Given the description of an element on the screen output the (x, y) to click on. 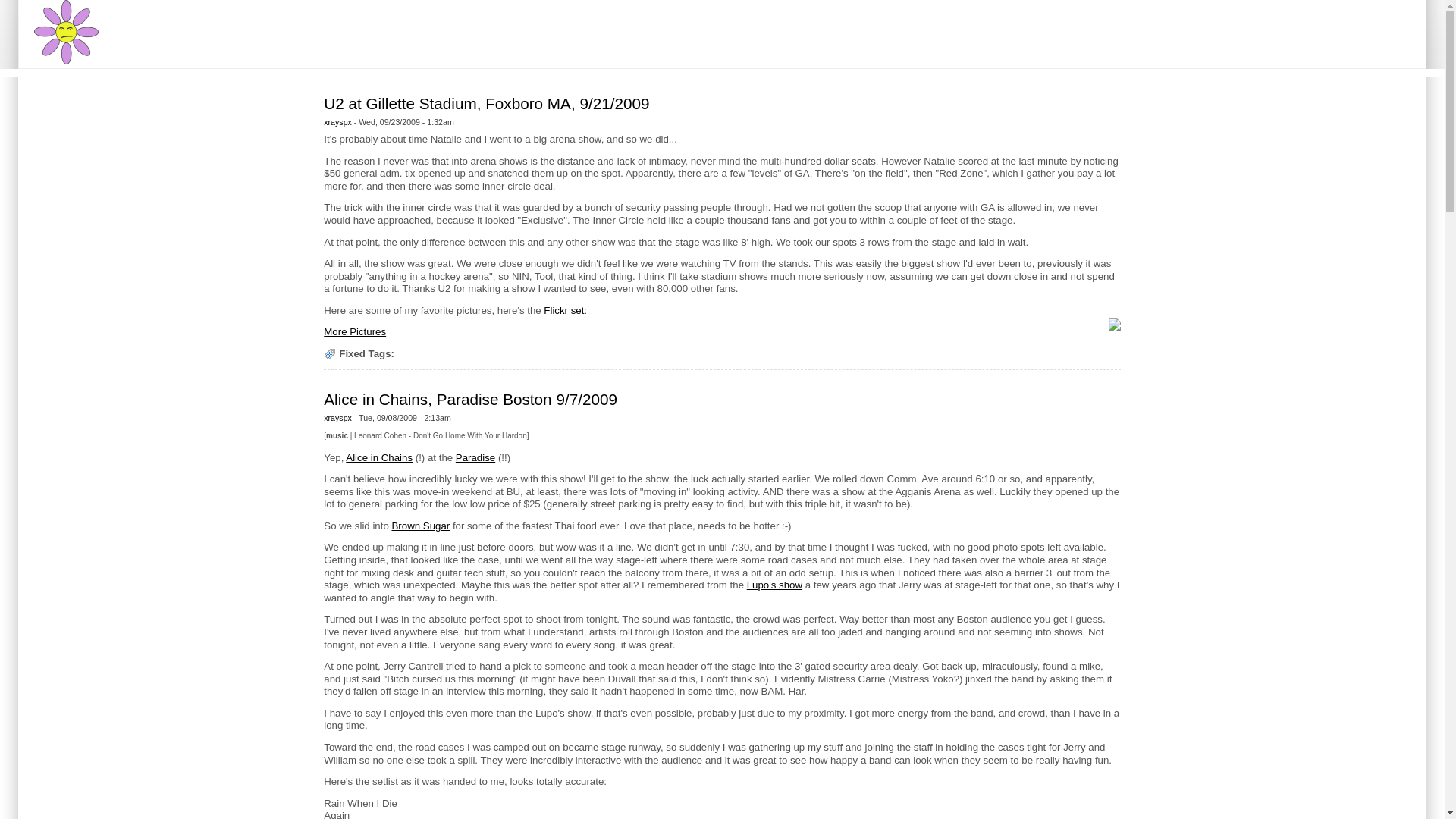
Flickr set (563, 310)
More Pictures (354, 331)
View user profile. (337, 417)
View user profile. (337, 121)
Skip to search (32, 0)
xrayspx (337, 121)
